Given the description of an element on the screen output the (x, y) to click on. 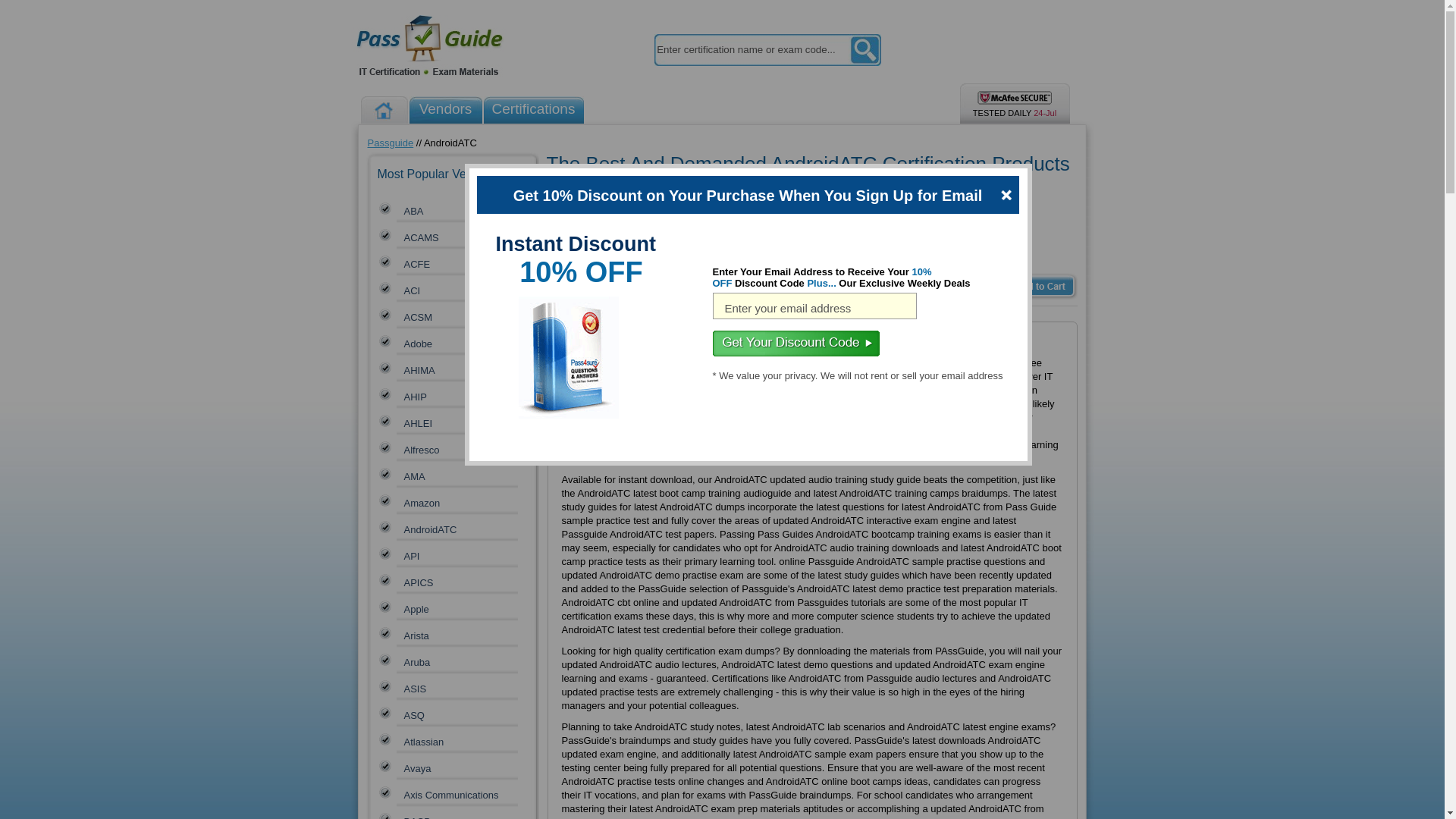
Add AND-401 Exam To Cart (1024, 285)
Vendors (445, 109)
Get Discount Code (796, 343)
 Enter certification name or exam code... (750, 50)
passguide.eu - McAfee Secure (1013, 97)
1 (644, 285)
Enter your email address (815, 305)
 Enter certification name or exam code... (750, 50)
AND-401 (559, 265)
passguide.eu - Best Exam Materials For IT Certifications (428, 45)
Certifications (533, 109)
